Given the description of an element on the screen output the (x, y) to click on. 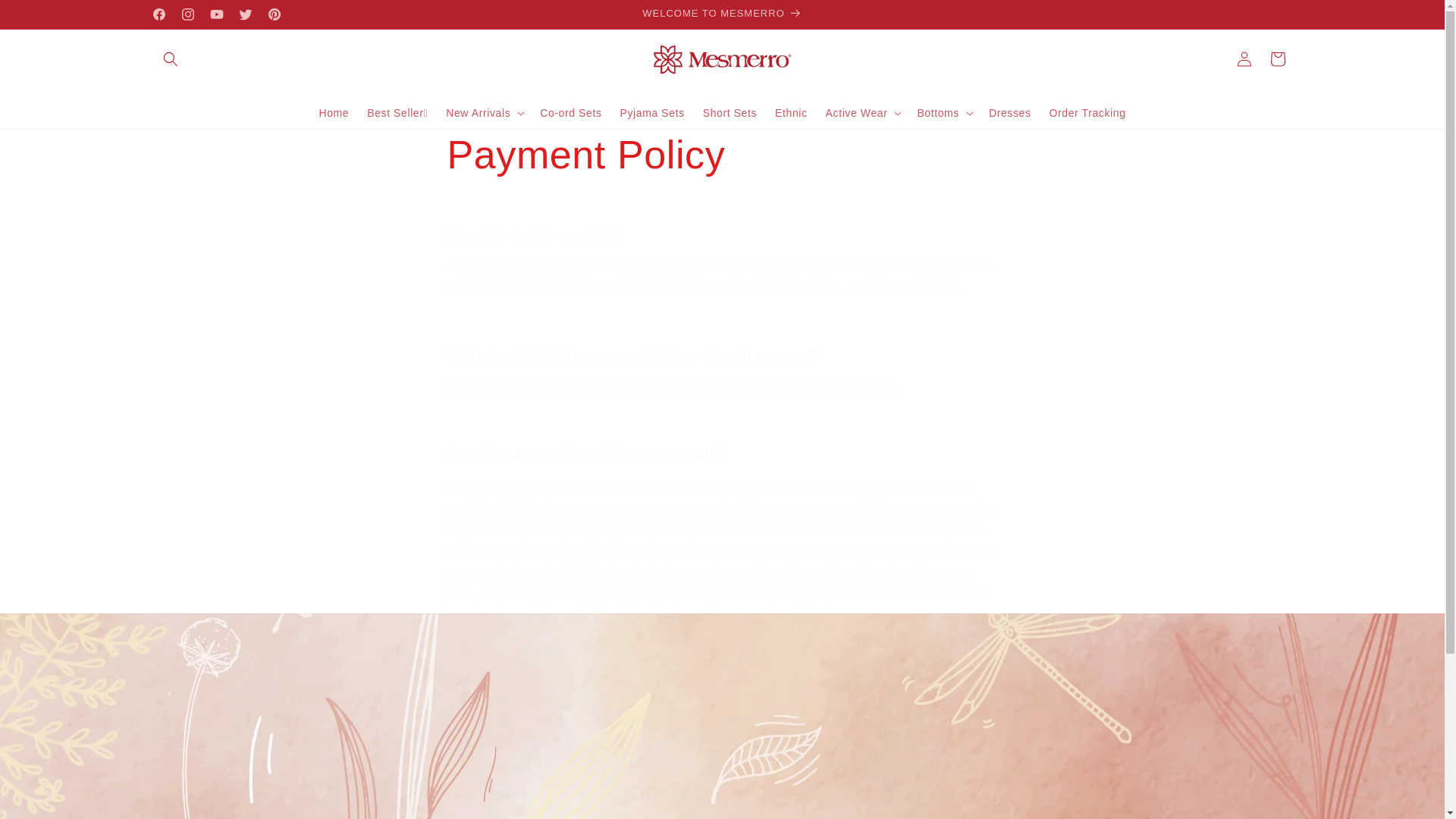
WELCOME TO MESMERRO (722, 14)
Payment Policy (721, 154)
Instagram (187, 14)
Twitter (244, 14)
YouTube (216, 14)
Pinterest (273, 14)
Facebook (158, 14)
Skip to content (864, 745)
